Given the description of an element on the screen output the (x, y) to click on. 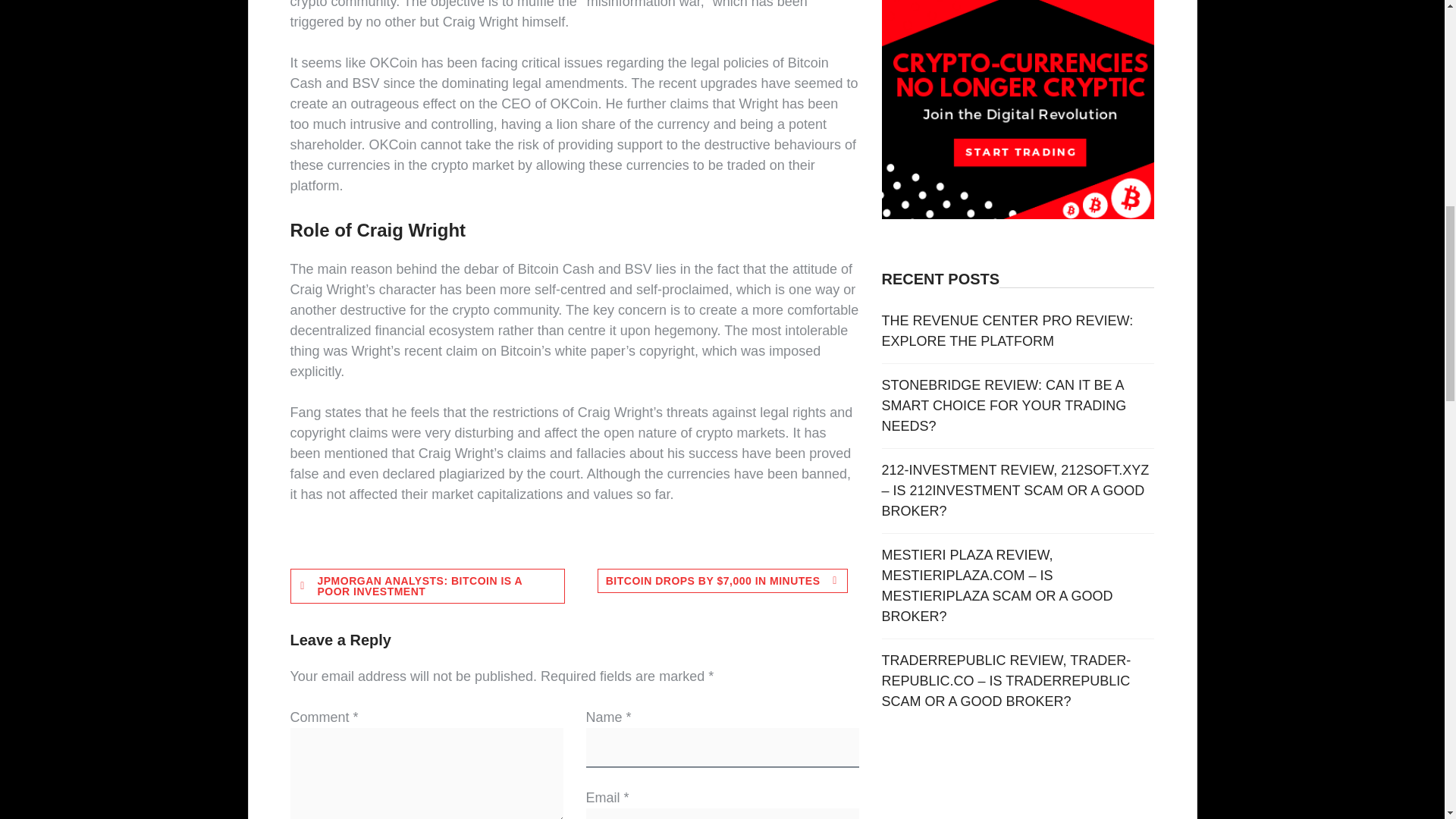
THE REVENUE CENTER PRO REVIEW: EXPLORE THE PLATFORM (1008, 330)
JPMORGAN ANALYSTS: BITCOIN IS A POOR INVESTMENT (426, 585)
